Given the description of an element on the screen output the (x, y) to click on. 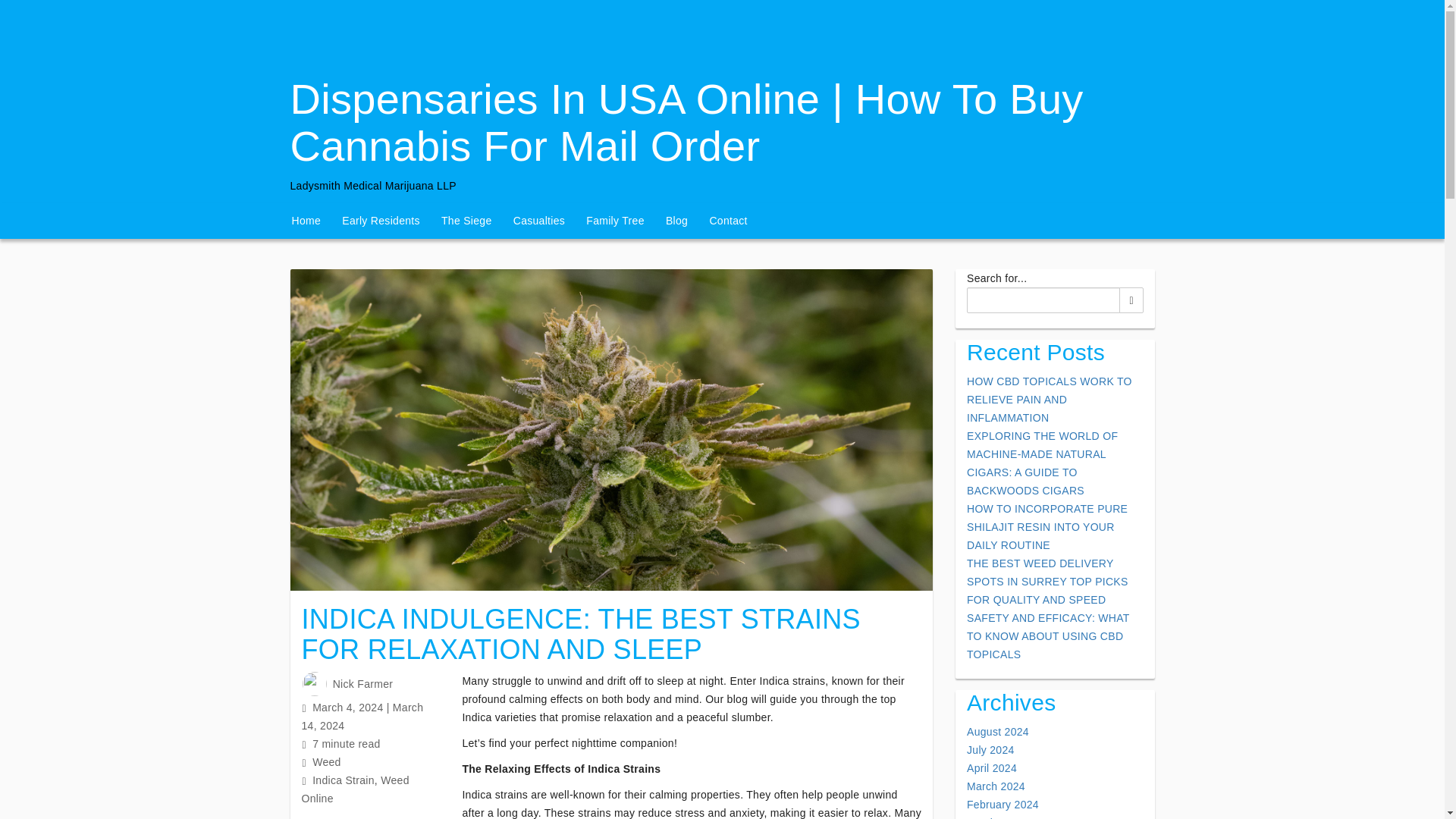
The Siege (466, 220)
Family Tree (614, 220)
HOW CBD TOPICALS WORK TO RELIEVE PAIN AND INFLAMMATION  (1049, 399)
Weed (326, 761)
July 2024 (990, 749)
Indica Strain (343, 779)
Nick Farmer (363, 684)
Casualties (538, 220)
April 2024 (991, 767)
Early Residents (381, 220)
